Given the description of an element on the screen output the (x, y) to click on. 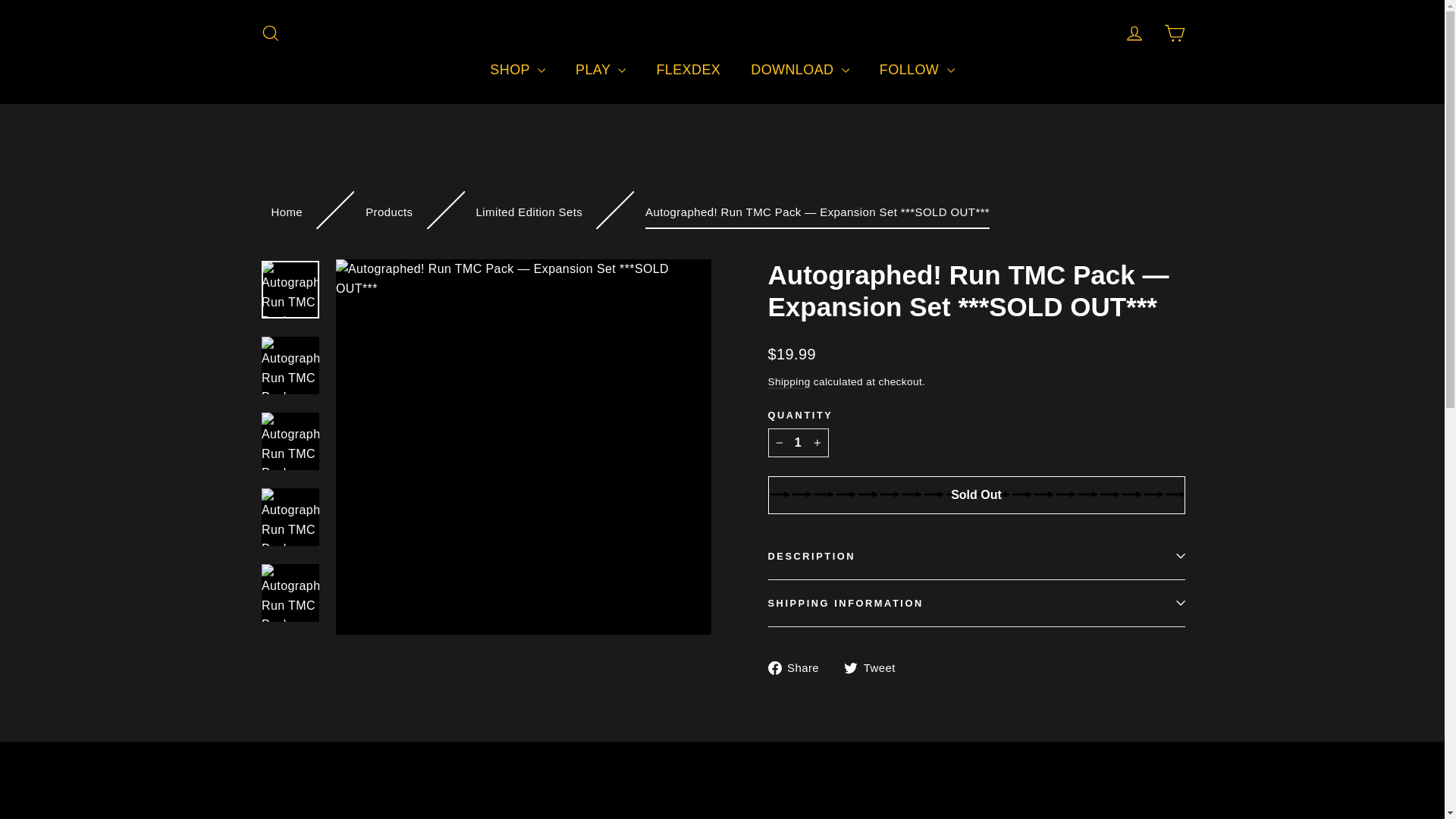
Log in (1134, 33)
FLEXDEX (687, 69)
DOWNLOAD (799, 69)
Cart (1173, 33)
SHOP (517, 69)
PLAY (600, 69)
Share on Facebook (798, 667)
Search (269, 33)
Tweet on Twitter (875, 667)
Back to the frontpage (286, 211)
1 (797, 442)
